Given the description of an element on the screen output the (x, y) to click on. 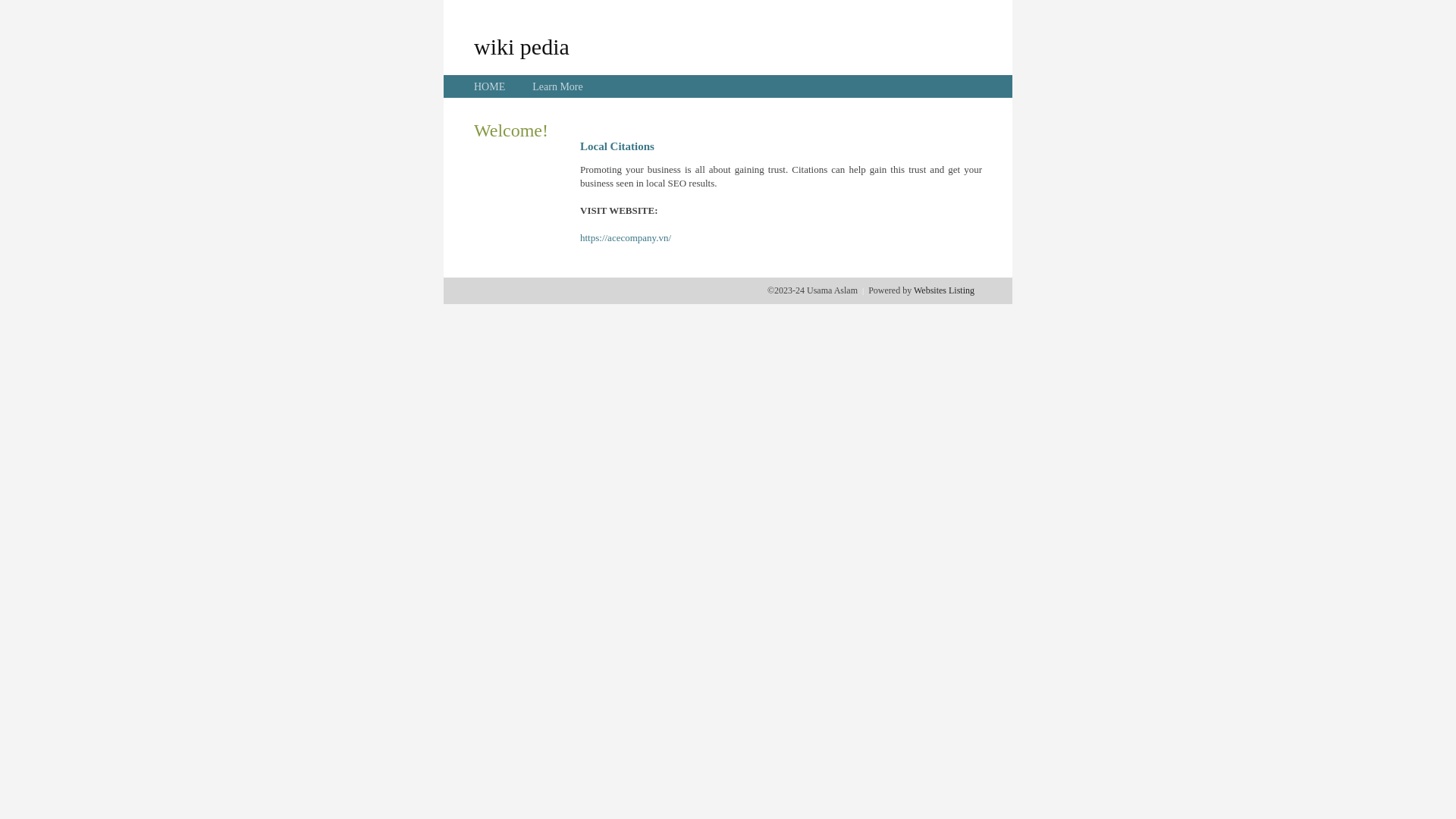
https://acecompany.vn/ Element type: text (625, 237)
Learn More Element type: text (557, 86)
wiki pedia Element type: text (521, 46)
Websites Listing Element type: text (943, 290)
HOME Element type: text (489, 86)
